Given the description of an element on the screen output the (x, y) to click on. 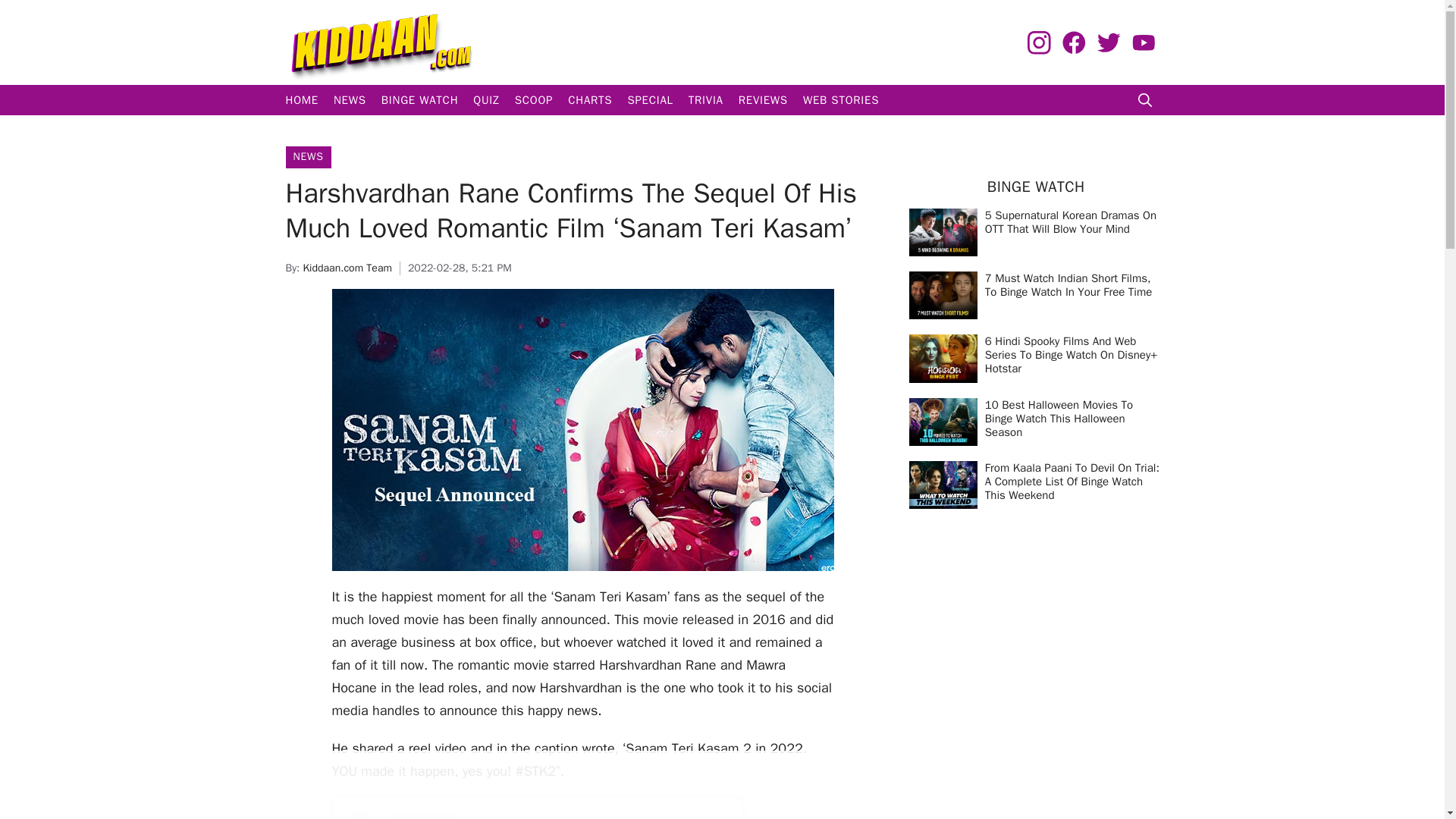
TRIVIA (705, 100)
QUIZ (485, 100)
Kiddaan.com Team (346, 267)
REVIEWS (762, 100)
SPECIAL (649, 100)
View this post on Instagram (536, 814)
SCOOP (533, 100)
